Given the description of an element on the screen output the (x, y) to click on. 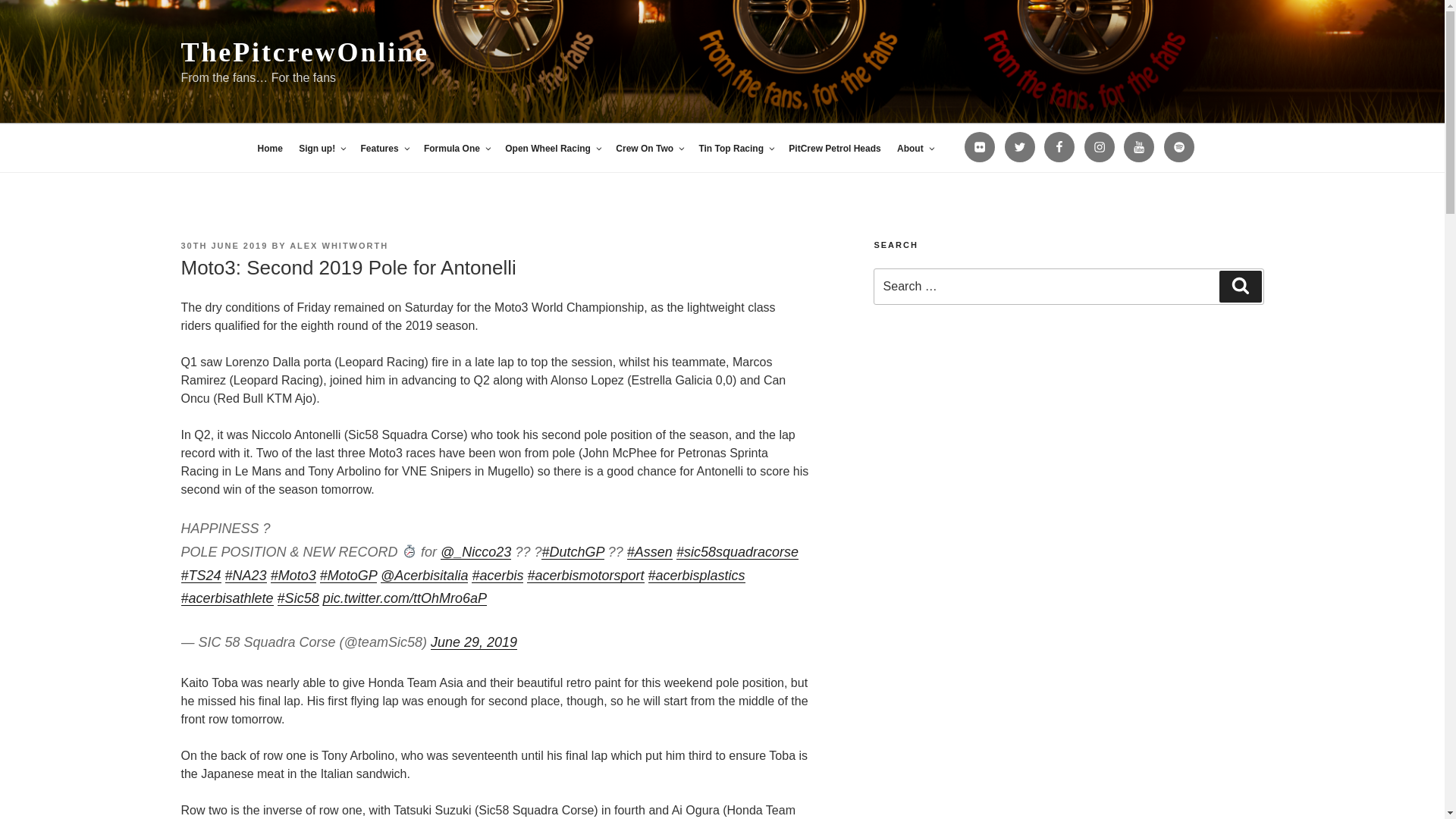
Features (383, 148)
Open Wheel Racing (552, 148)
ThePitcrewOnline (304, 51)
Sign up! (321, 148)
Formula One (456, 148)
Home (269, 148)
